Given the description of an element on the screen output the (x, y) to click on. 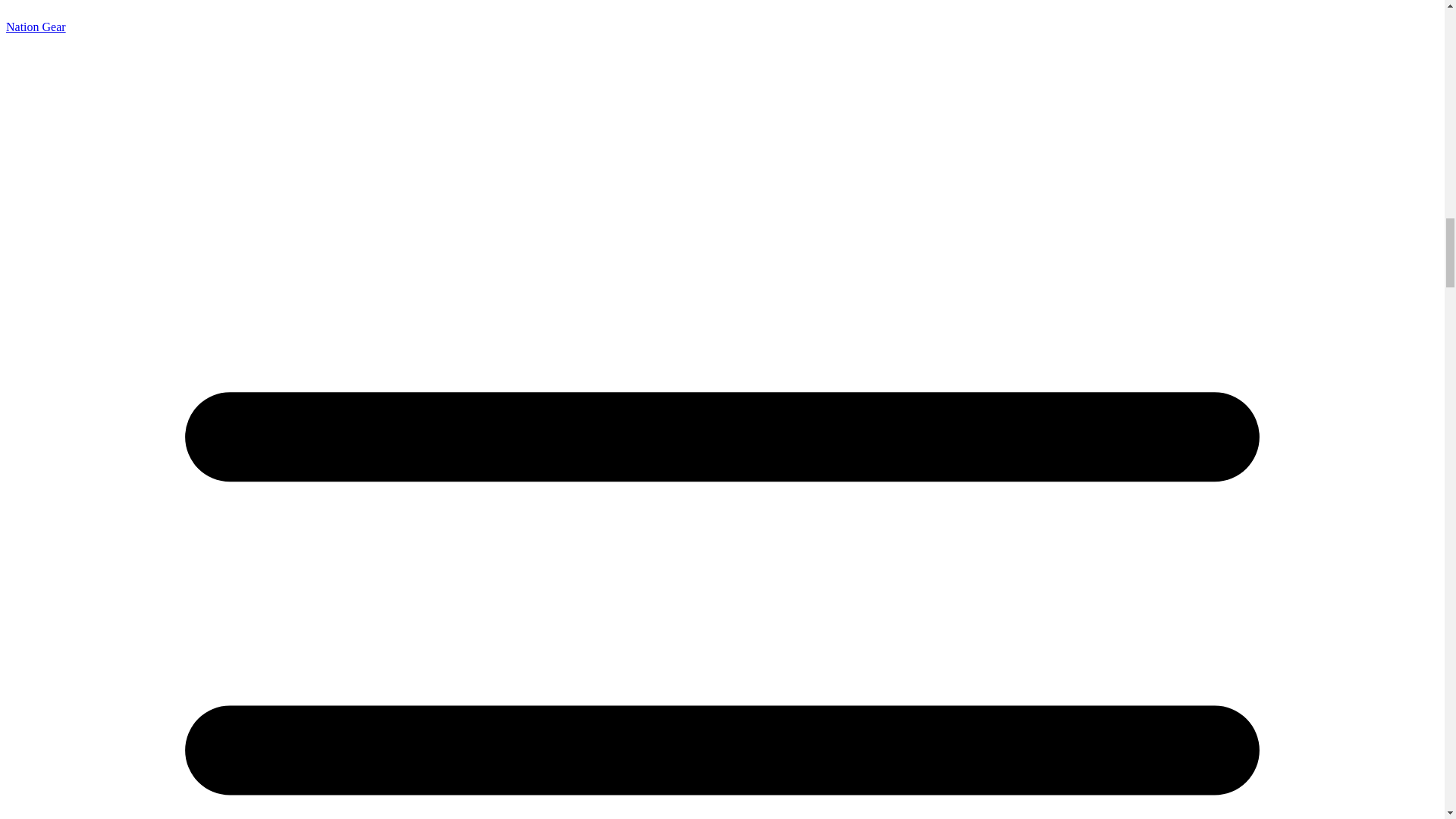
Nation Gear (35, 26)
